Given the description of an element on the screen output the (x, y) to click on. 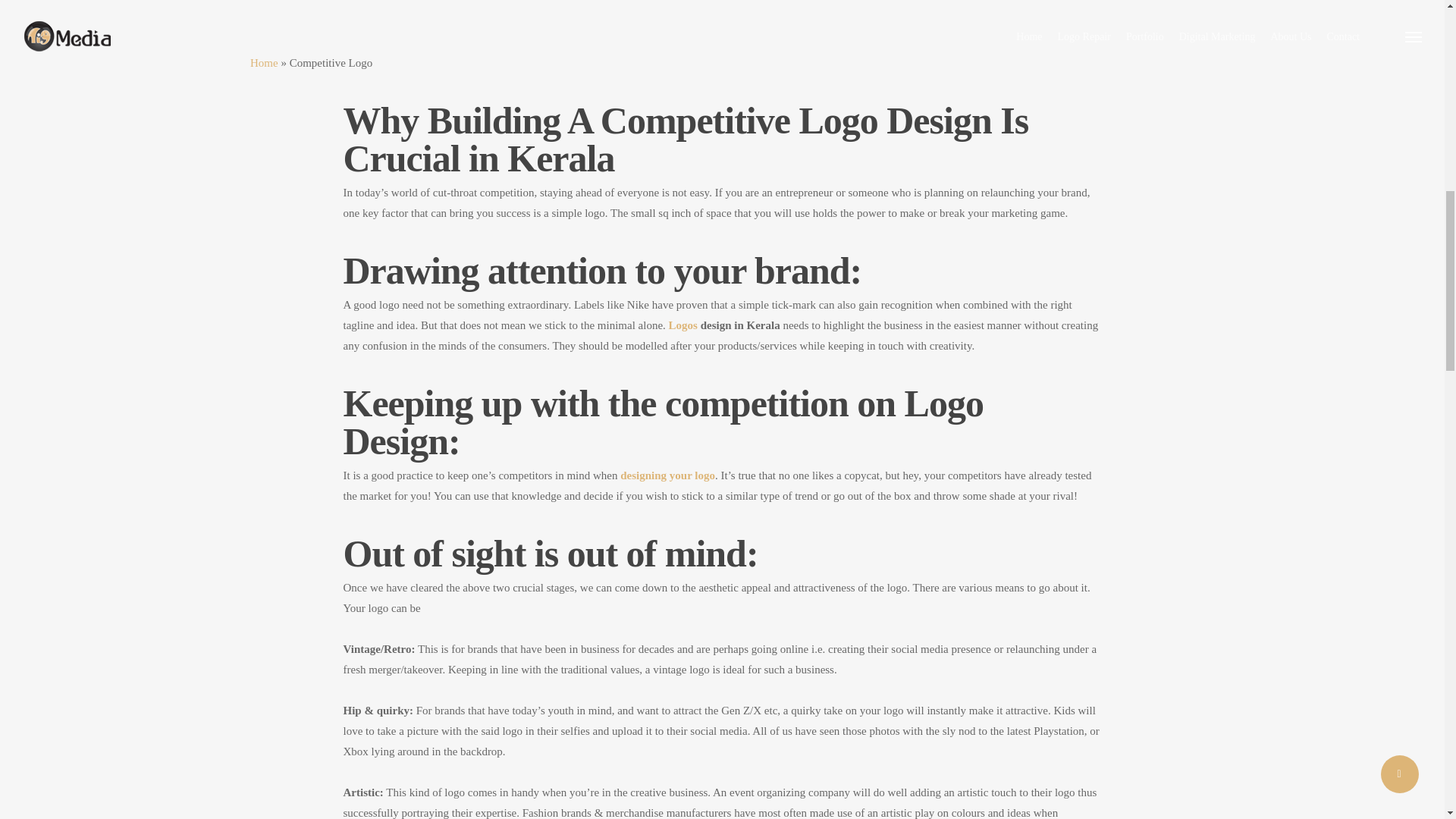
designing your logo (667, 475)
Logos (682, 325)
Home (264, 62)
